Given the description of an element on the screen output the (x, y) to click on. 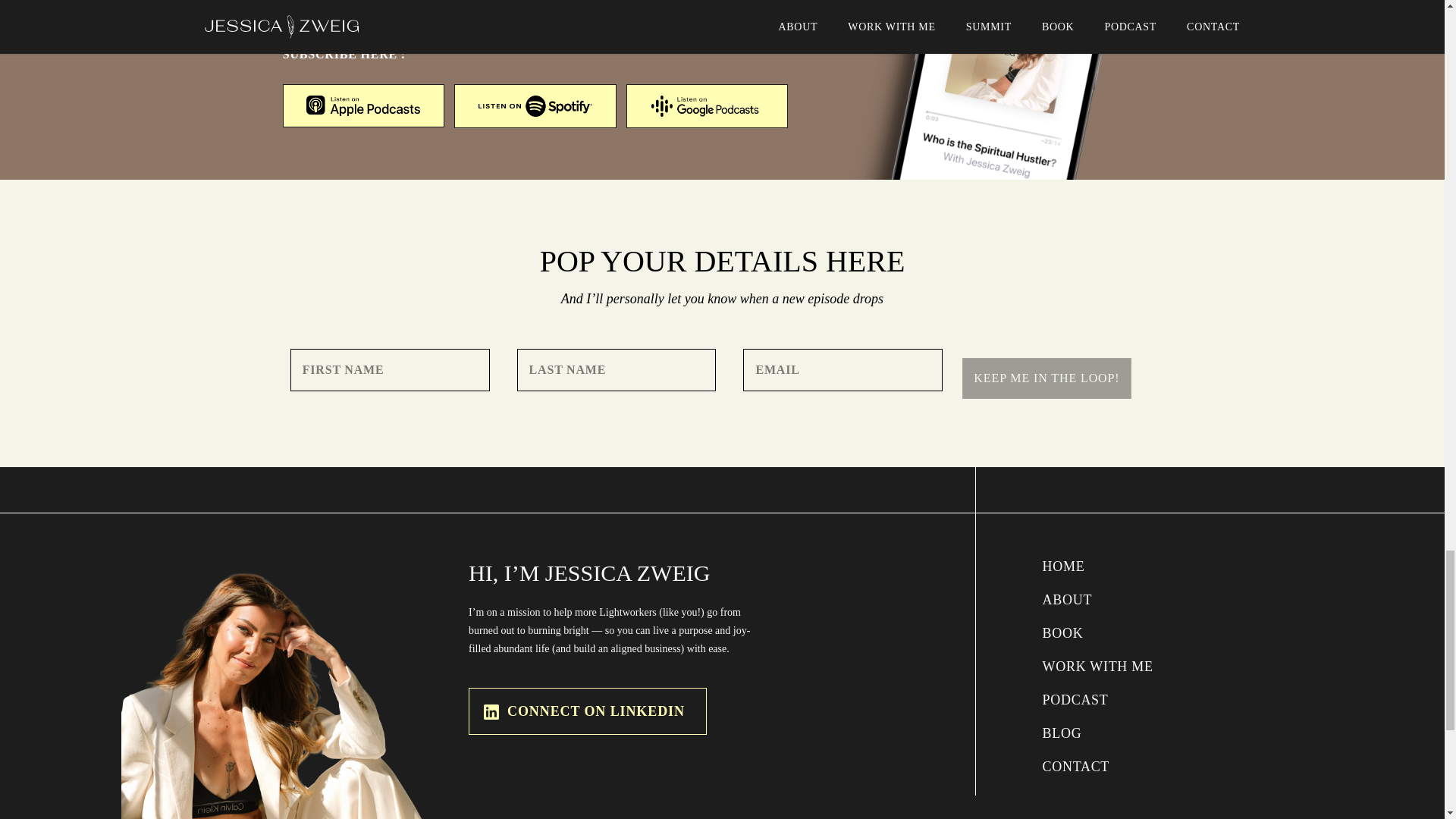
CONNECT ON LINKEDIN (587, 710)
BLOG (1117, 733)
HOME (1117, 565)
KEEP ME IN THE LOOP! (1046, 377)
ABOUT (1117, 599)
WORK WITH ME (1117, 666)
CONTACT (1117, 766)
BOOK (1117, 632)
PODCAST (1117, 699)
